Given the description of an element on the screen output the (x, y) to click on. 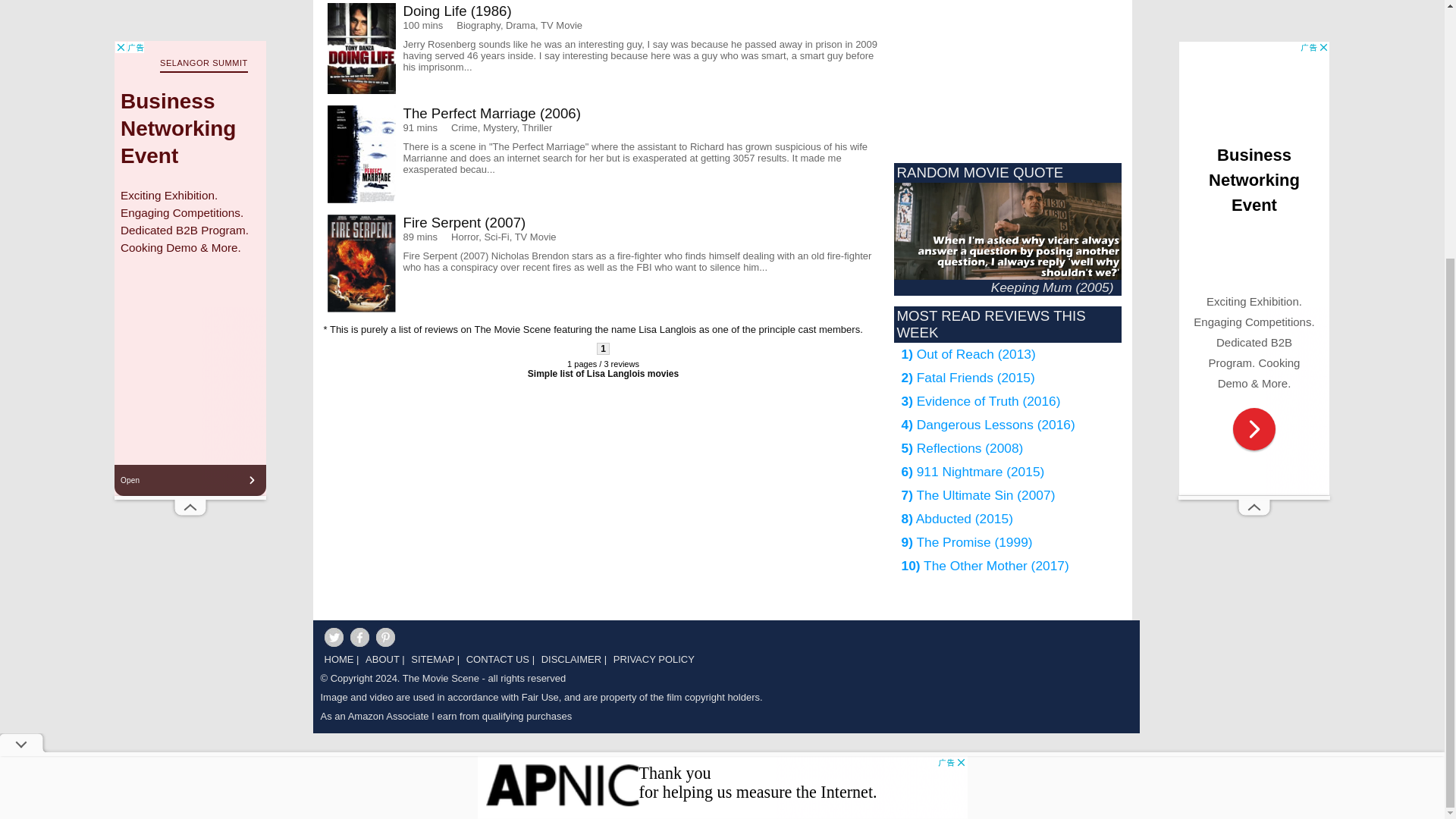
Simple list of Lisa Langlois movies (602, 373)
1 (603, 348)
CONTACT US (496, 662)
SITEMAP (430, 662)
ABOUT (379, 662)
HOME (336, 662)
Advertisement (462, 503)
PRIVACY POLICY (652, 662)
DISCLAIMER (569, 662)
1 (603, 348)
Simple List of movies starring Lisa Langlois (602, 373)
Click here for review of The Perfect Marriage (603, 154)
Click here for review of Doing Life (603, 48)
Click here for review of Fire Serpent (603, 263)
